Given the description of an element on the screen output the (x, y) to click on. 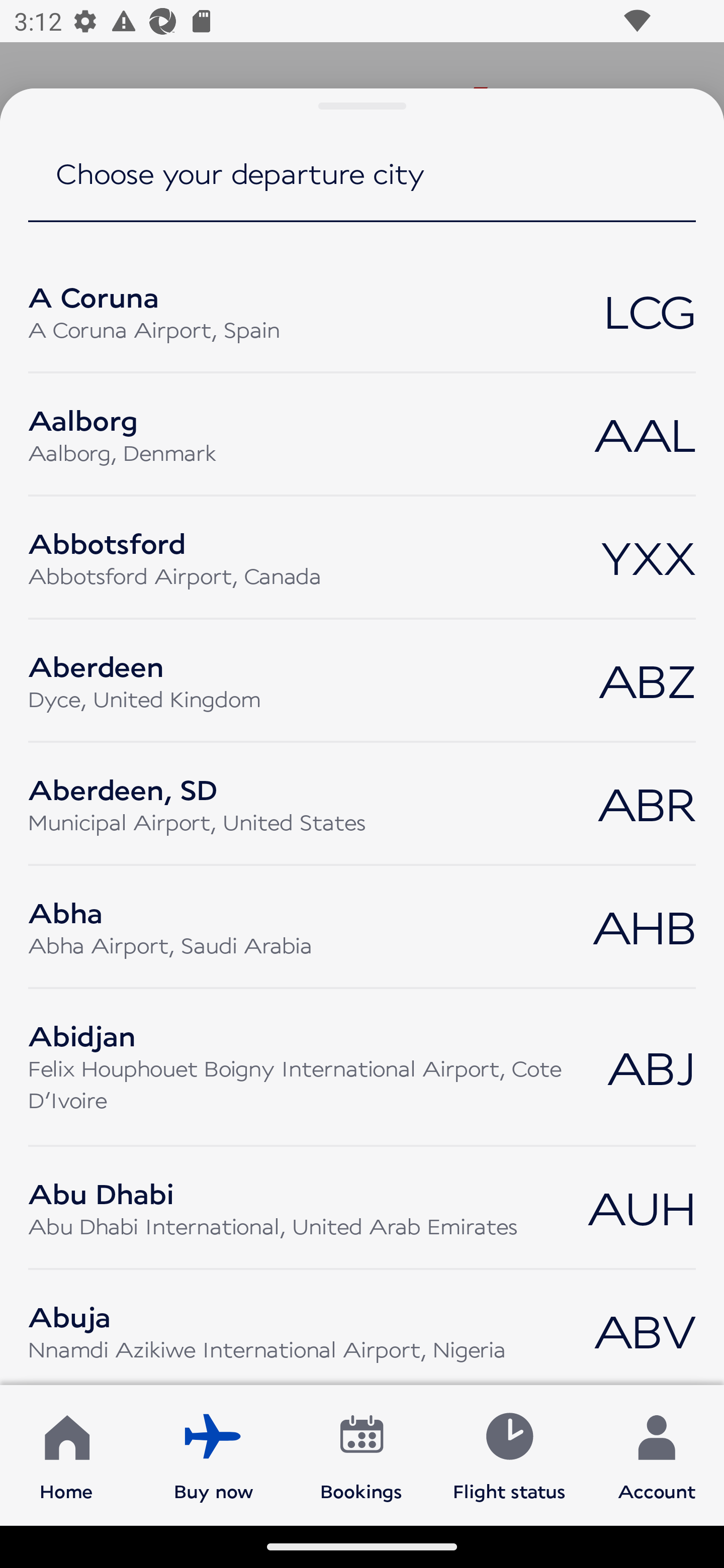
Choose your departure city (361, 186)
A Coruna A Coruna Airport, Spain LCG (361, 310)
Aalborg Aalborg, Denmark AAL (361, 434)
Abbotsford Abbotsford Airport, Canada YXX (361, 556)
Aberdeen Dyce, United Kingdom ABZ (361, 680)
Aberdeen, SD Municipal Airport, United States ABR (361, 803)
Abha Abha Airport, Saudi Arabia AHB (361, 926)
Home (66, 1454)
Bookings (361, 1454)
Flight status (509, 1454)
Account (657, 1454)
